Given the description of an element on the screen output the (x, y) to click on. 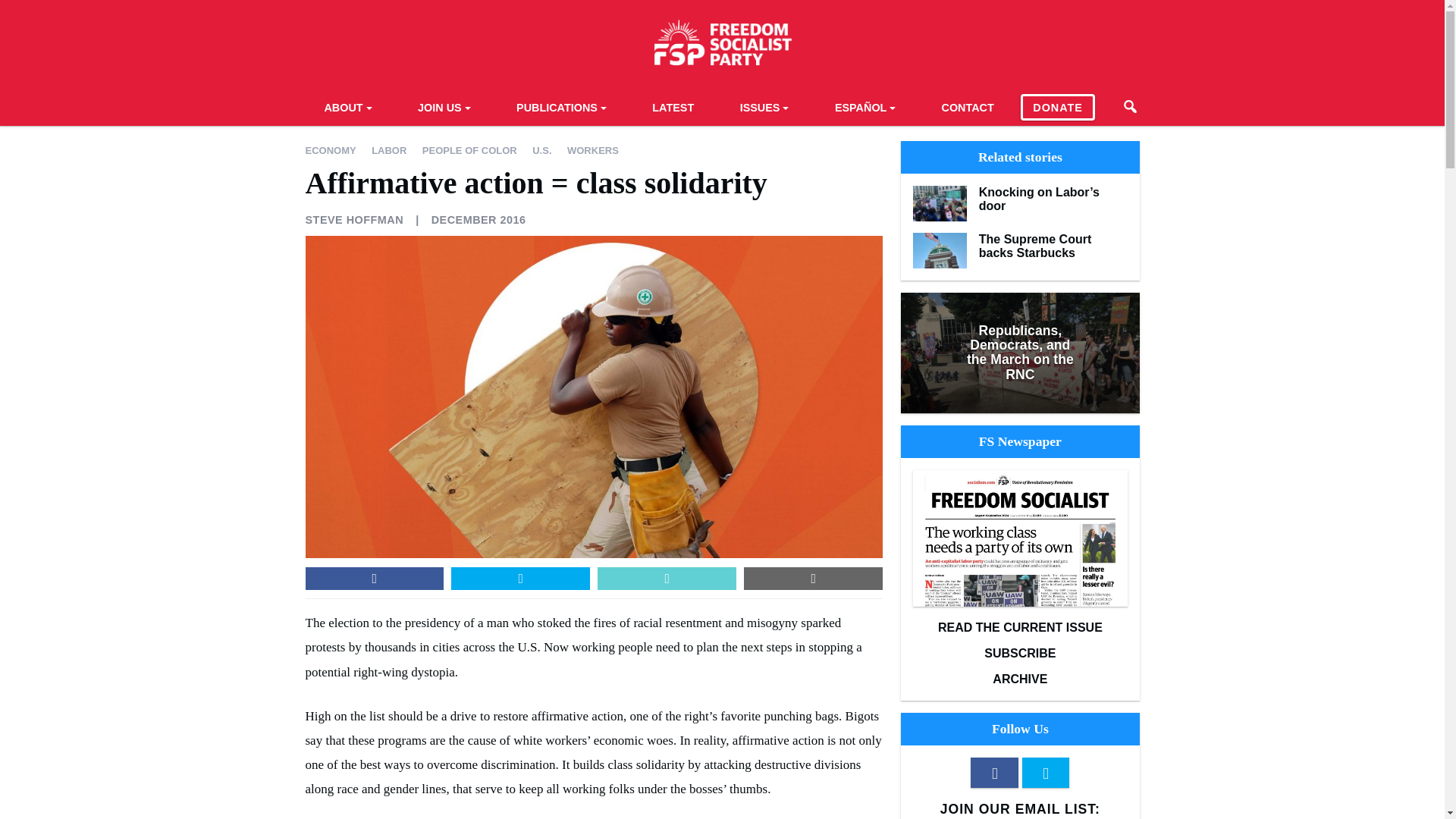
Join Us (443, 106)
LATEST (673, 106)
JOIN US (443, 106)
ISSUES (764, 106)
PUBLICATIONS (561, 106)
About (347, 106)
ABOUT (347, 106)
